Given the description of an element on the screen output the (x, y) to click on. 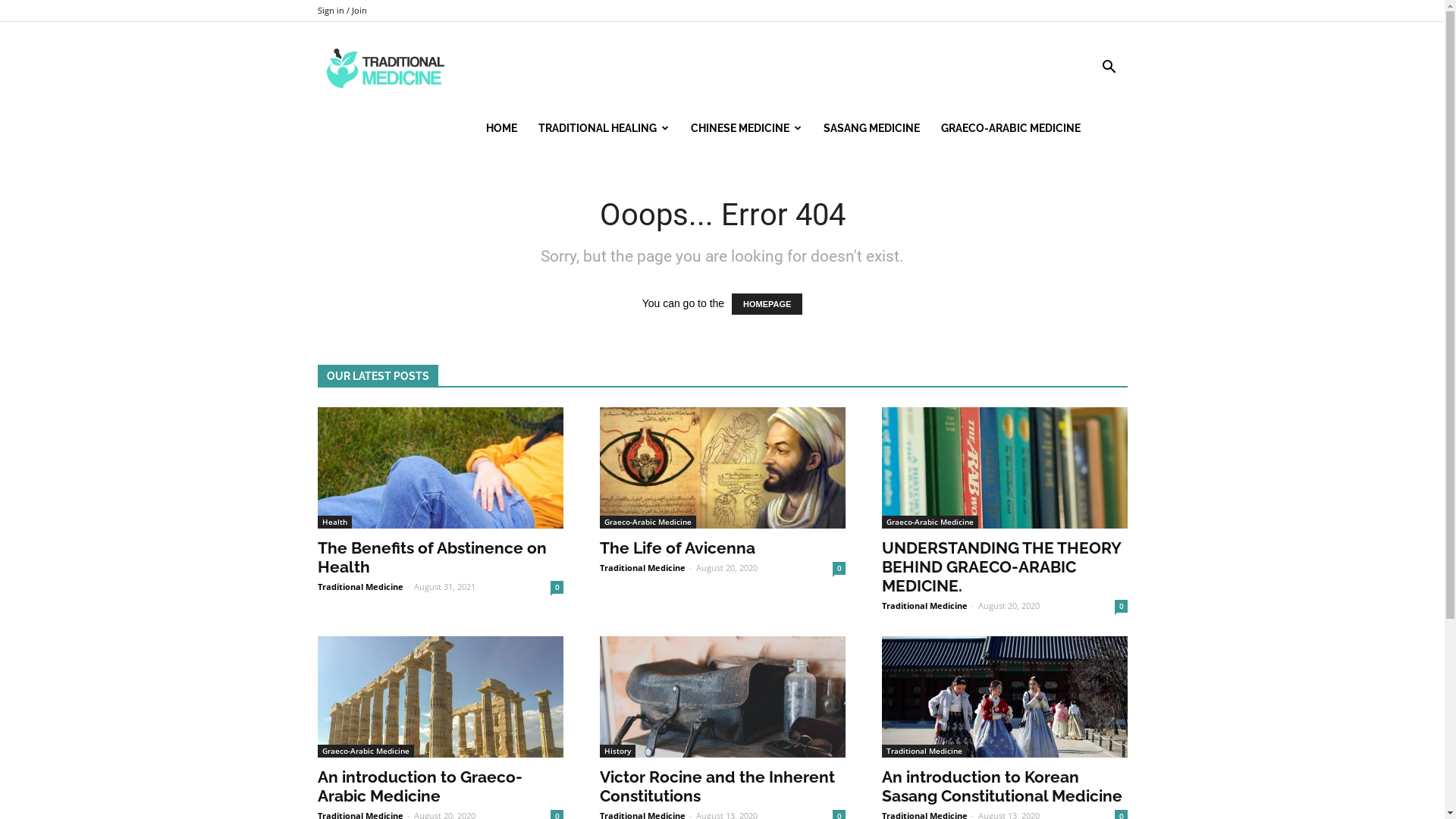
TRADITIONAL HEALING Element type: text (603, 127)
SASANG MEDICINE Element type: text (871, 127)
Sign in / Join Element type: text (341, 9)
CHINESE MEDICINE Element type: text (745, 127)
0 Element type: text (838, 567)
Graeco-Arabic Medicine Element type: text (929, 521)
UNDERSTANDING THE THEORY BEHIND GRAECO-ARABIC MEDICINE. Element type: text (1000, 566)
Traditional Medicine Element type: text (641, 567)
Victor Rocine and the Inherent Constitutions Element type: hover (721, 696)
0 Element type: text (1120, 605)
The Benefits of Abstinence on Health Element type: hover (439, 467)
Traditional Medicine Element type: text (923, 750)
Health Element type: text (333, 521)
HEALTH & FITNESS Element type: hover (385, 67)
An introduction to Graeco-Arabic Medicine Element type: hover (439, 696)
An introduction to Graeco-Arabic Medicine Element type: text (418, 786)
An introduction to Korean Sasang Constitutional Medicine Element type: text (1001, 786)
The Benefits of Abstinence on Health Element type: text (431, 557)
Search Element type: text (1085, 140)
0 Element type: text (556, 586)
History Element type: text (616, 750)
Traditional Medicine Element type: text (923, 605)
HOME Element type: text (500, 127)
Traditional Medicine Element type: text (359, 586)
An introduction to Korean Sasang Constitutional Medicine Element type: hover (1003, 696)
Graeco-Arabic Medicine Element type: text (647, 521)
UNDERSTANDING THE THEORY BEHIND GRAECO-ARABIC MEDICINE. Element type: hover (1003, 467)
Traditional Medicine Element type: text (385, 66)
The Life of Avicenna Element type: text (676, 547)
GRAECO-ARABIC MEDICINE Element type: text (1009, 127)
The Life of Avicenna Element type: hover (721, 467)
HOMEPAGE Element type: text (766, 303)
Victor Rocine and the Inherent Constitutions Element type: text (716, 786)
Graeco-Arabic Medicine Element type: text (364, 750)
